Given the description of an element on the screen output the (x, y) to click on. 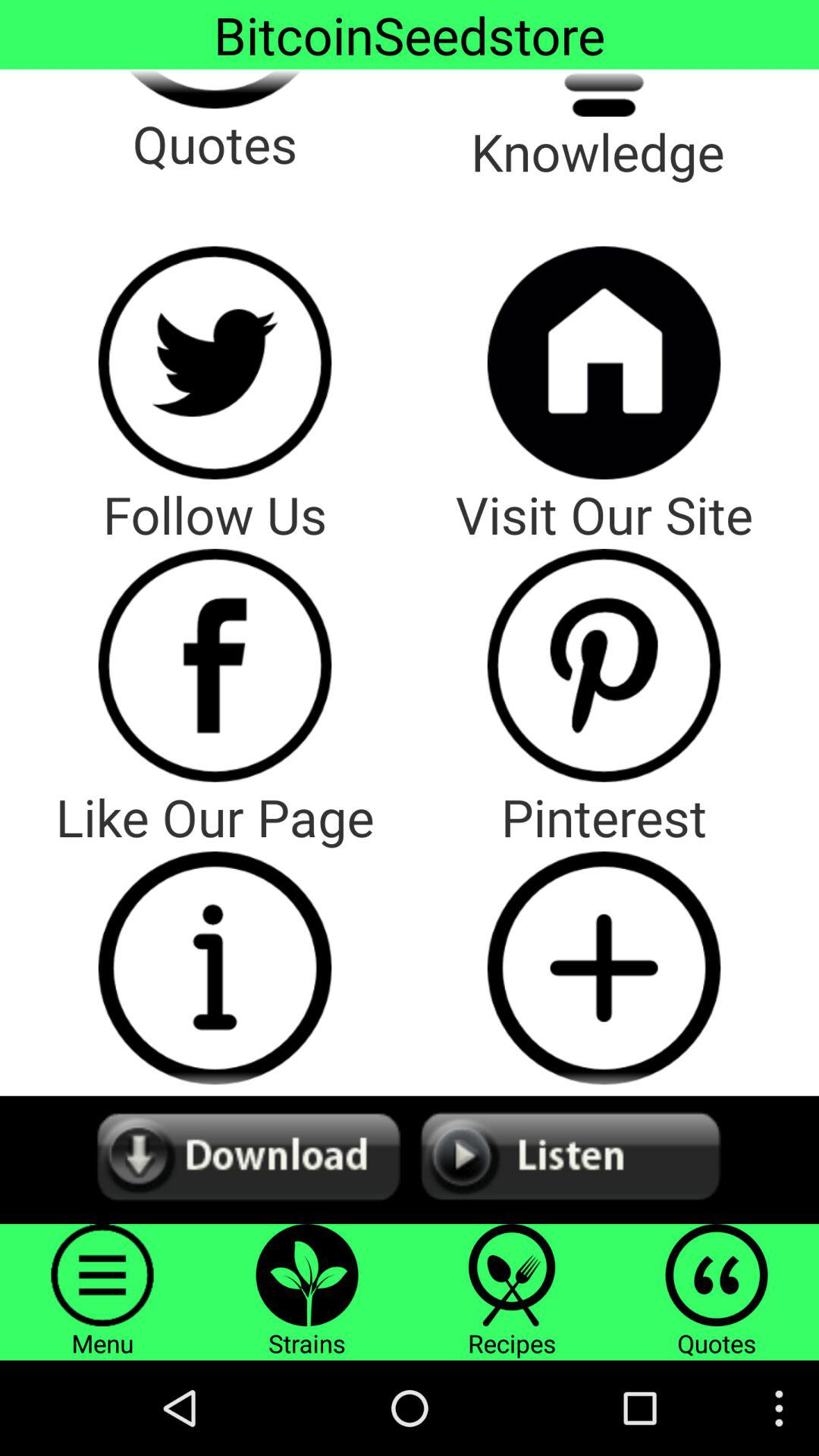
go to facebook page (214, 665)
